Given the description of an element on the screen output the (x, y) to click on. 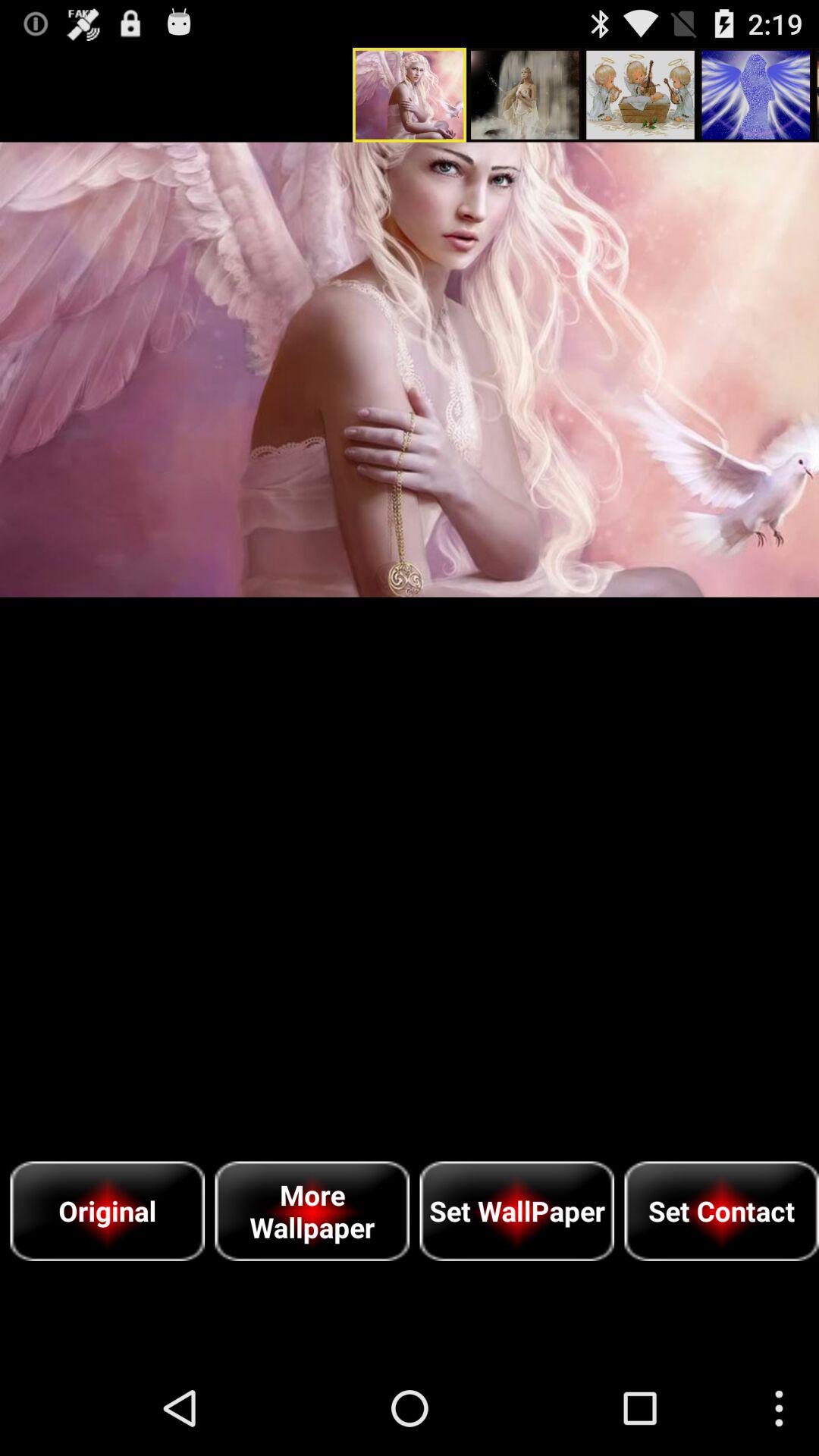
click item next to the set contact item (516, 1210)
